Given the description of an element on the screen output the (x, y) to click on. 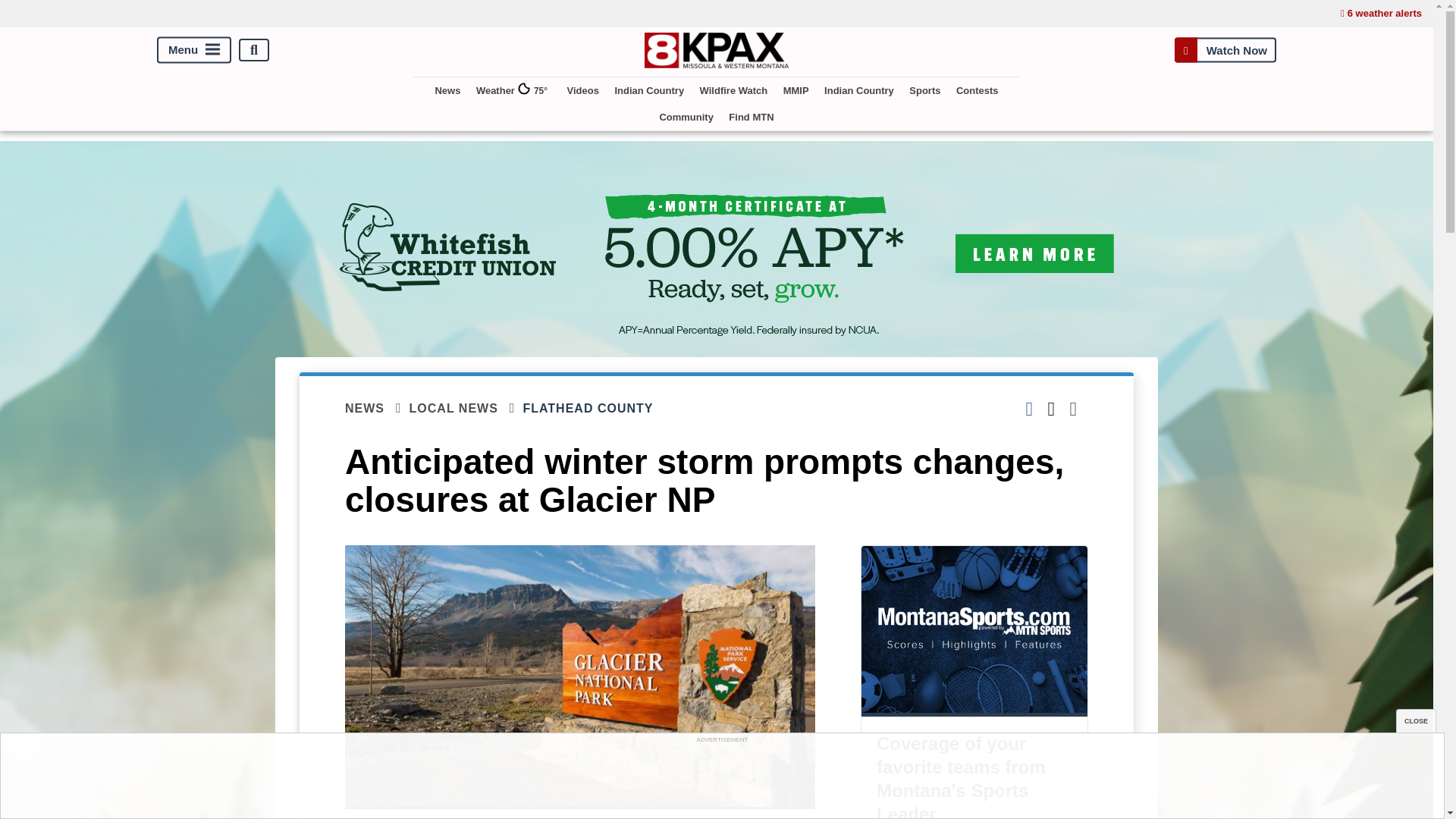
3rd party ad content (721, 780)
Watch Now (1224, 50)
Menu (194, 49)
